Given the description of an element on the screen output the (x, y) to click on. 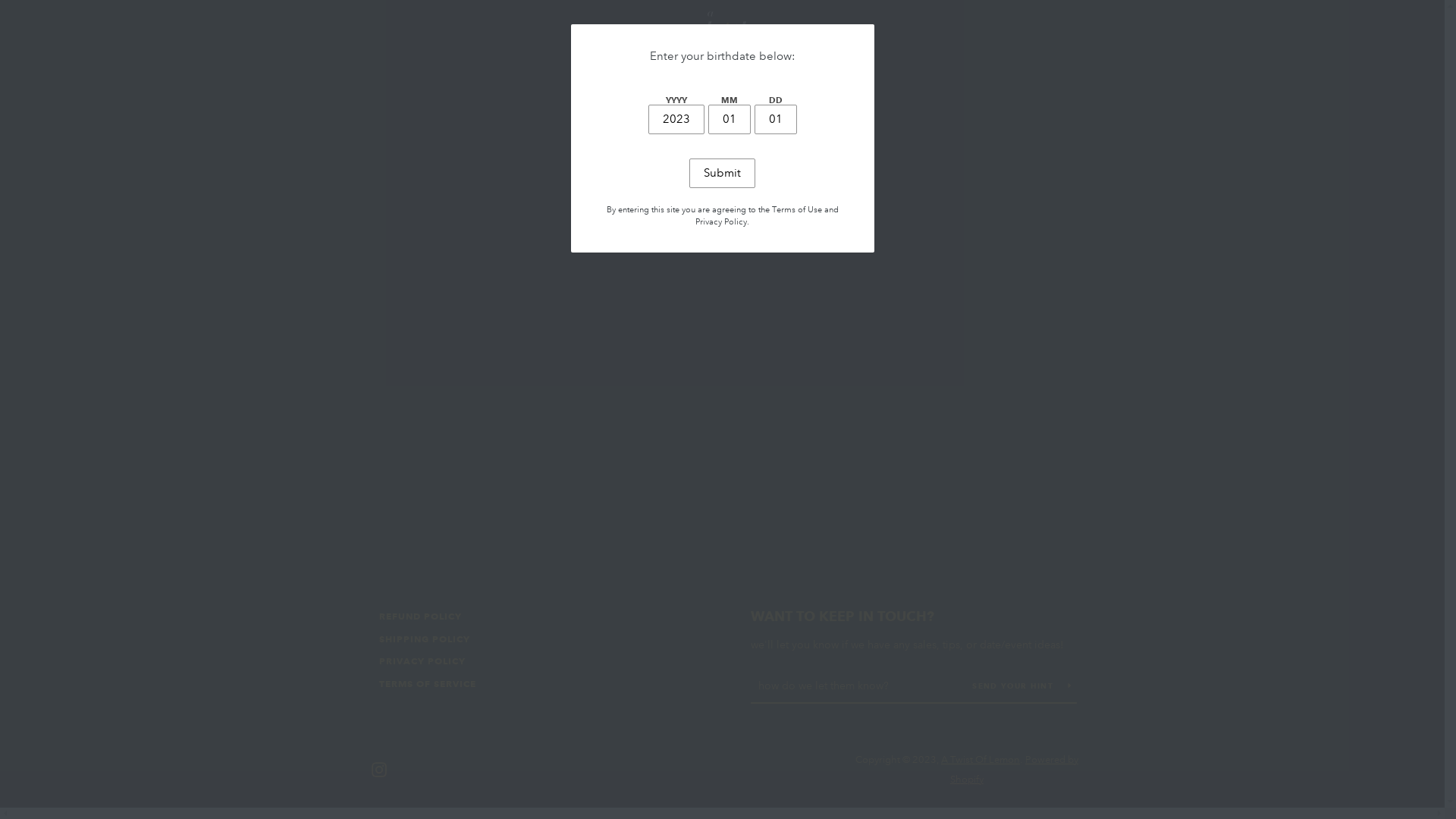
TERMS OF SERVICE Element type: text (427, 683)
A Twist Of Lemon Element type: text (980, 759)
REFUND POLICY Element type: text (420, 615)
Submit Element type: text (722, 173)
SEND YOUR HINT Element type: text (1021, 685)
Powered by Shopify Element type: text (1014, 769)
Skip to content Element type: text (0, 0)
SHIPPING POLICY Element type: text (424, 638)
MENU Element type: text (390, 30)
PRIVACY POLICY Element type: text (422, 660)
VIEW CART Element type: text (1065, 30)
Instagram Element type: text (378, 768)
